Given the description of an element on the screen output the (x, y) to click on. 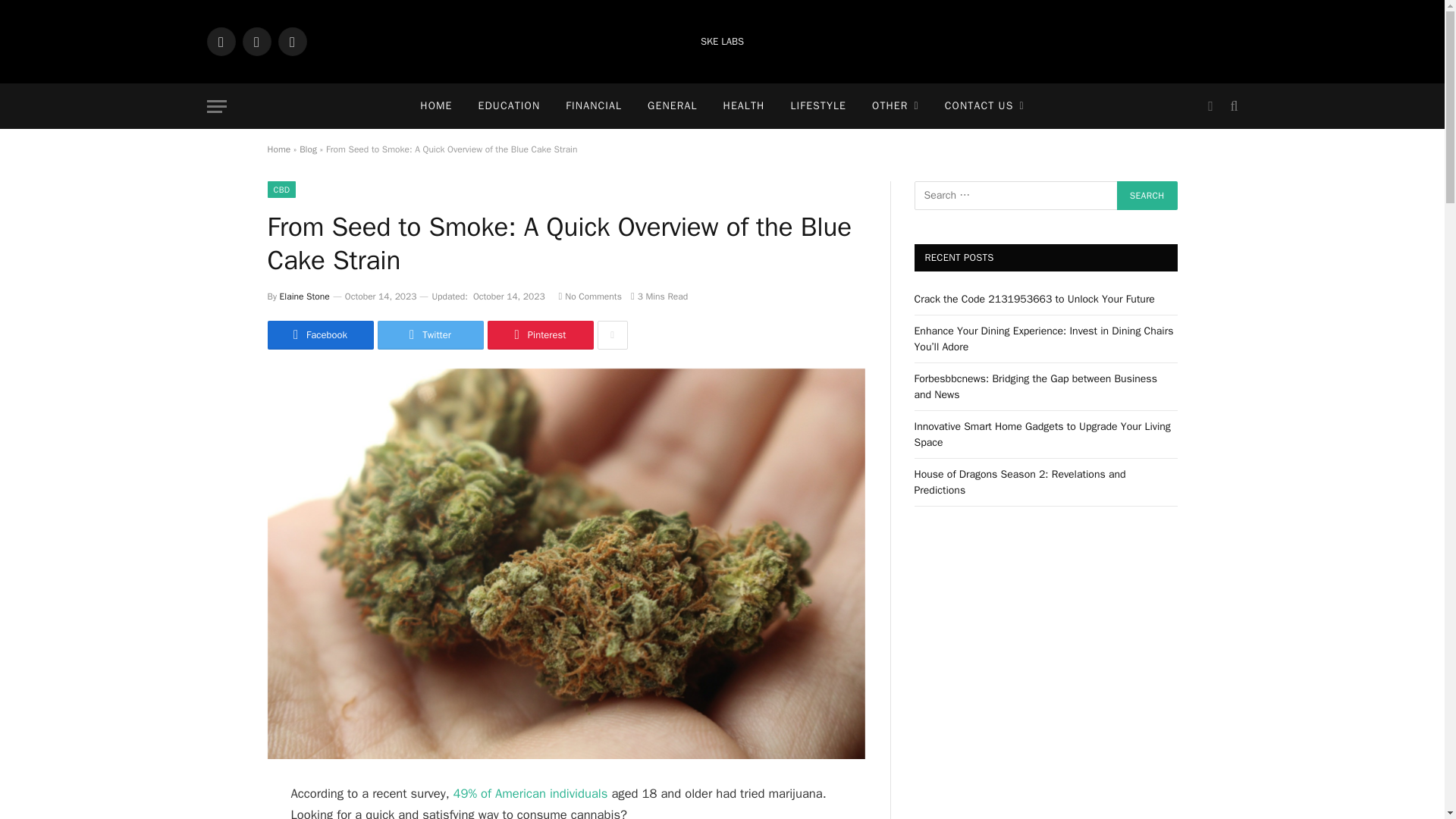
HOME (435, 105)
CONTACT US (983, 105)
Instagram (291, 41)
WhatsApp (256, 41)
Search (1232, 106)
GENERAL (672, 105)
Share on Twitter (430, 335)
Switch to Dark Design - easier on eyes. (1209, 106)
HEALTH (743, 105)
EDUCATION (509, 105)
Facebook (220, 41)
Blog (308, 149)
SKE LABS (722, 41)
CBD (280, 189)
LIFESTYLE (818, 105)
